Given the description of an element on the screen output the (x, y) to click on. 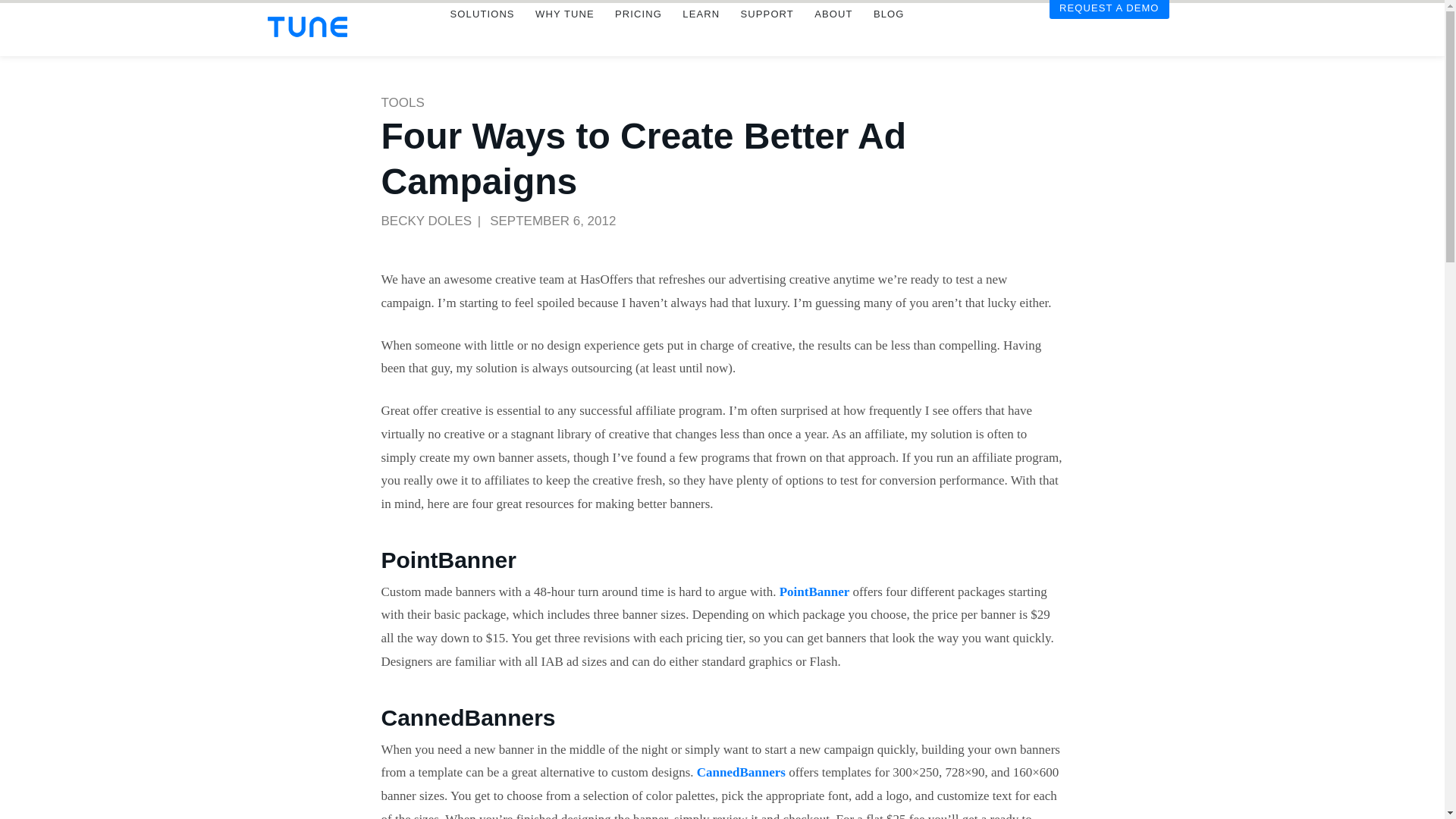
SUPPORT (767, 35)
SOLUTIONS (481, 35)
BLOG (888, 35)
TUNE Blog (888, 35)
PRICING (637, 35)
ABOUT (832, 35)
Get Started (1108, 29)
WHY TUNE (563, 35)
Performance Marketing Platform (306, 26)
LEARN (700, 35)
